Given the description of an element on the screen output the (x, y) to click on. 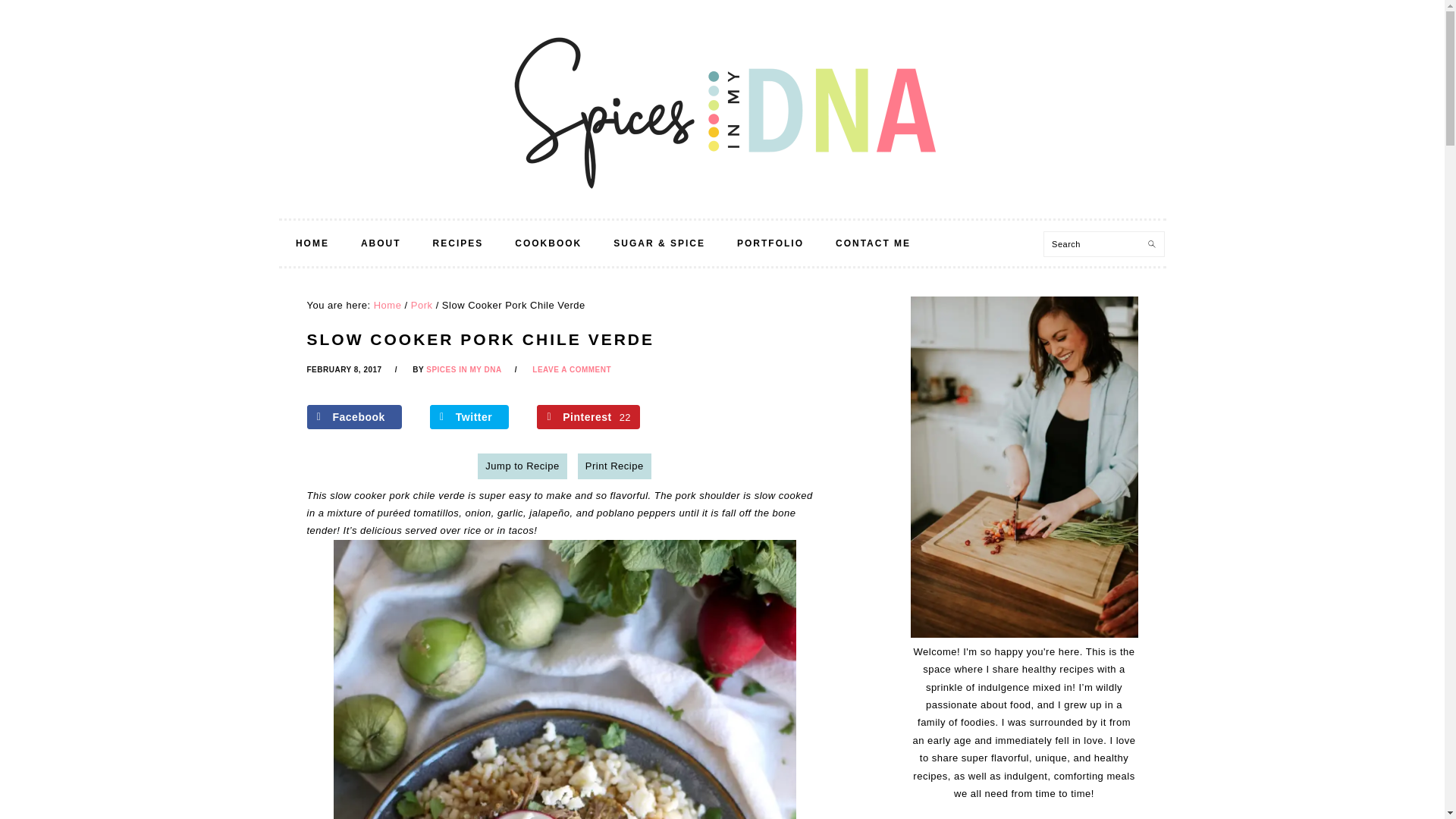
LEAVE A COMMENT (571, 369)
Facebook (353, 416)
Home (387, 305)
HOME (312, 243)
CONTACT ME (872, 243)
ABOUT (380, 243)
Pinterest22 (588, 416)
RECIPES (457, 243)
Pork (421, 305)
Twitter (468, 416)
SPICES IN MY DNA (464, 369)
